Given the description of an element on the screen output the (x, y) to click on. 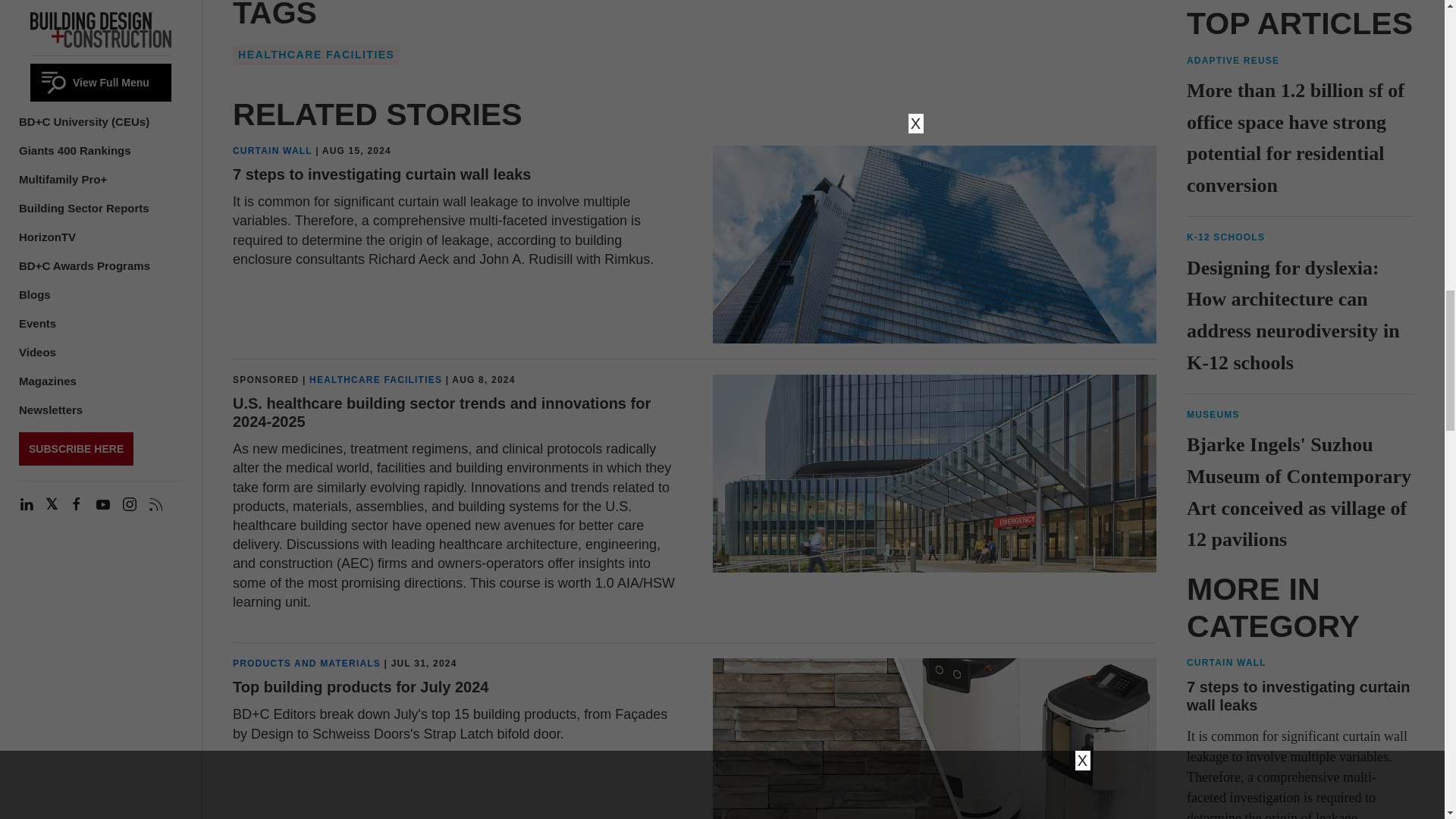
PRODUCTS AND MATERIALS (306, 663)
HEALTHCARE FACILITIES (375, 379)
HEALTHCARE FACILITIES (315, 55)
CURTAIN WALL (272, 150)
7 steps to investigating curtain wall leaks (381, 174)
7 steps to investigating curtain wall leaks, Photo: Pixabay (934, 244)
